Given the description of an element on the screen output the (x, y) to click on. 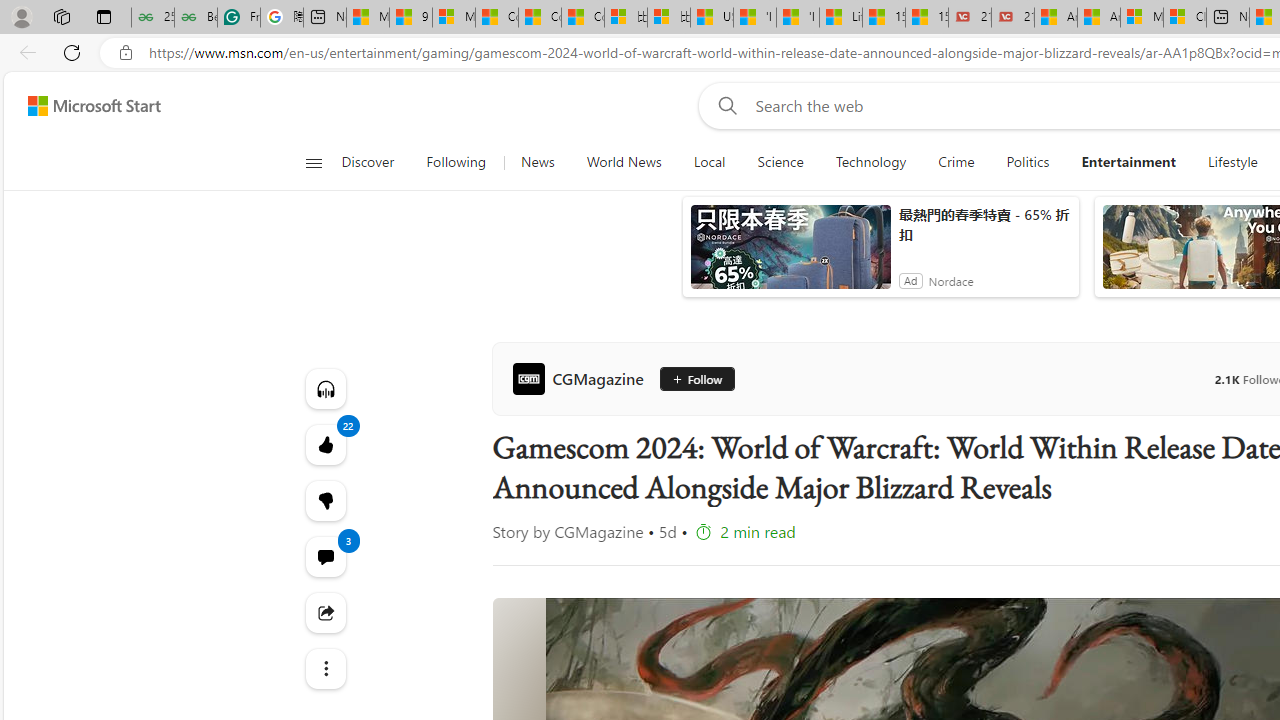
Lifestyle - MSN (840, 17)
25 Basic Linux Commands For Beginners - GeeksforGeeks (152, 17)
